Given the description of an element on the screen output the (x, y) to click on. 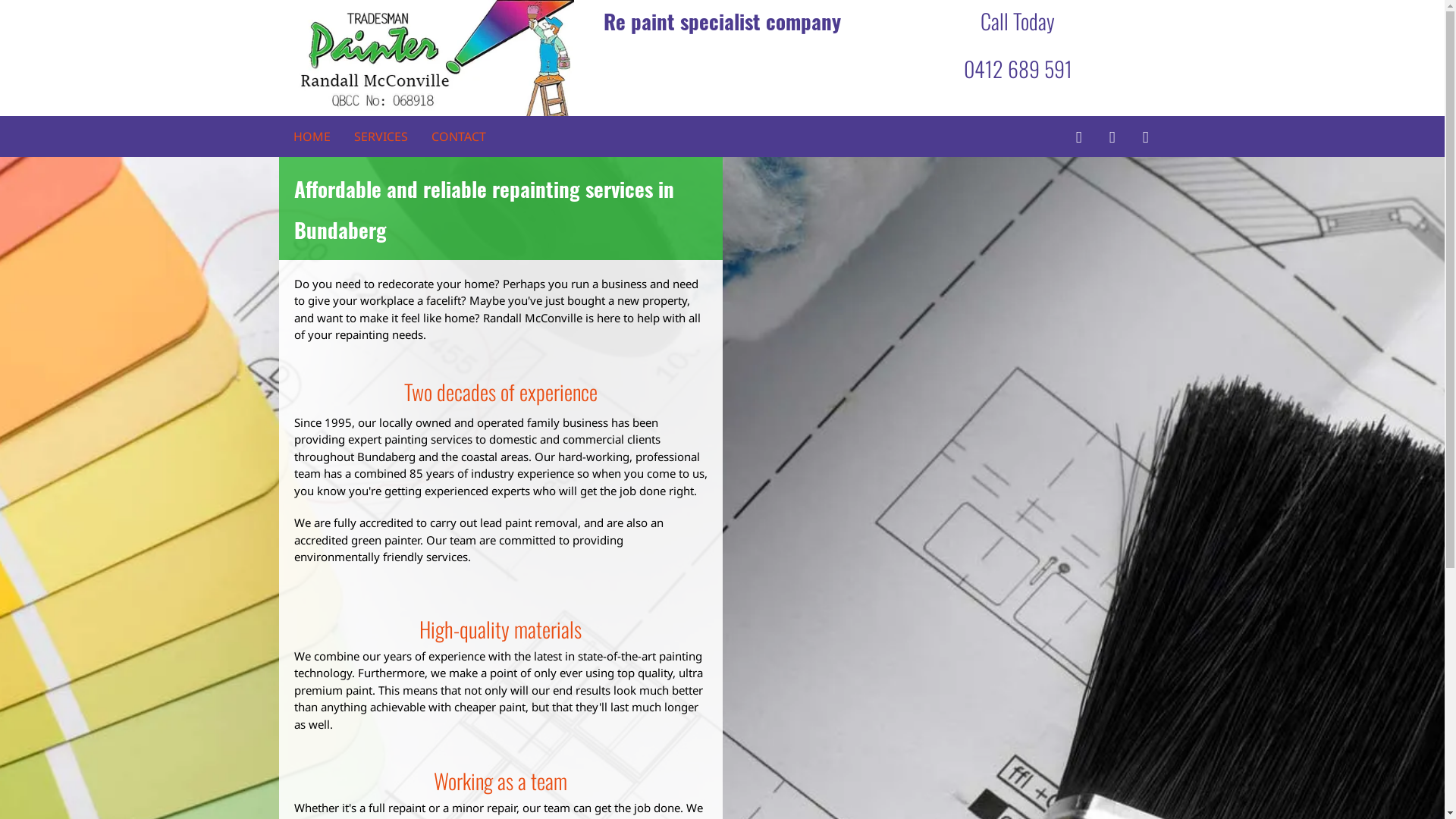
0412 689 591 Element type: text (1017, 68)
CONTACT Element type: text (457, 136)
mcconville-randall-logo1 Element type: hover (426, 58)
HOME Element type: text (310, 136)
SERVICES Element type: text (380, 136)
